Given the description of an element on the screen output the (x, y) to click on. 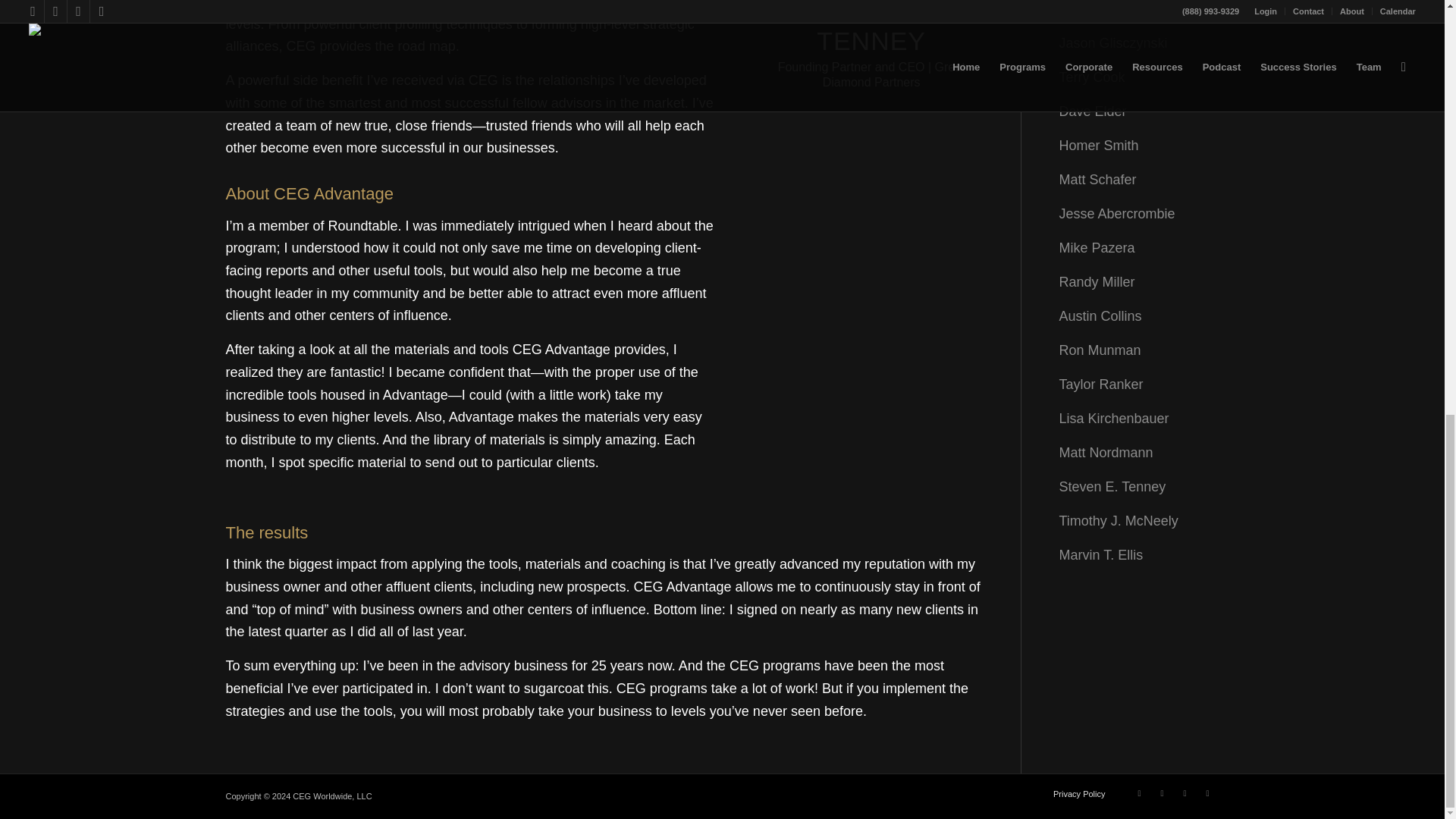
Steven E. Tenney (1112, 486)
Jason Glisczynski (1112, 43)
Twitter (1139, 793)
Matt Schafer (1096, 179)
Youtube (1208, 793)
Terry Cook (1091, 77)
Jesse Abercrombie (1116, 213)
Austin Collins (1099, 315)
Randy Miller (1096, 281)
Taylor Ranker (1100, 384)
